Given the description of an element on the screen output the (x, y) to click on. 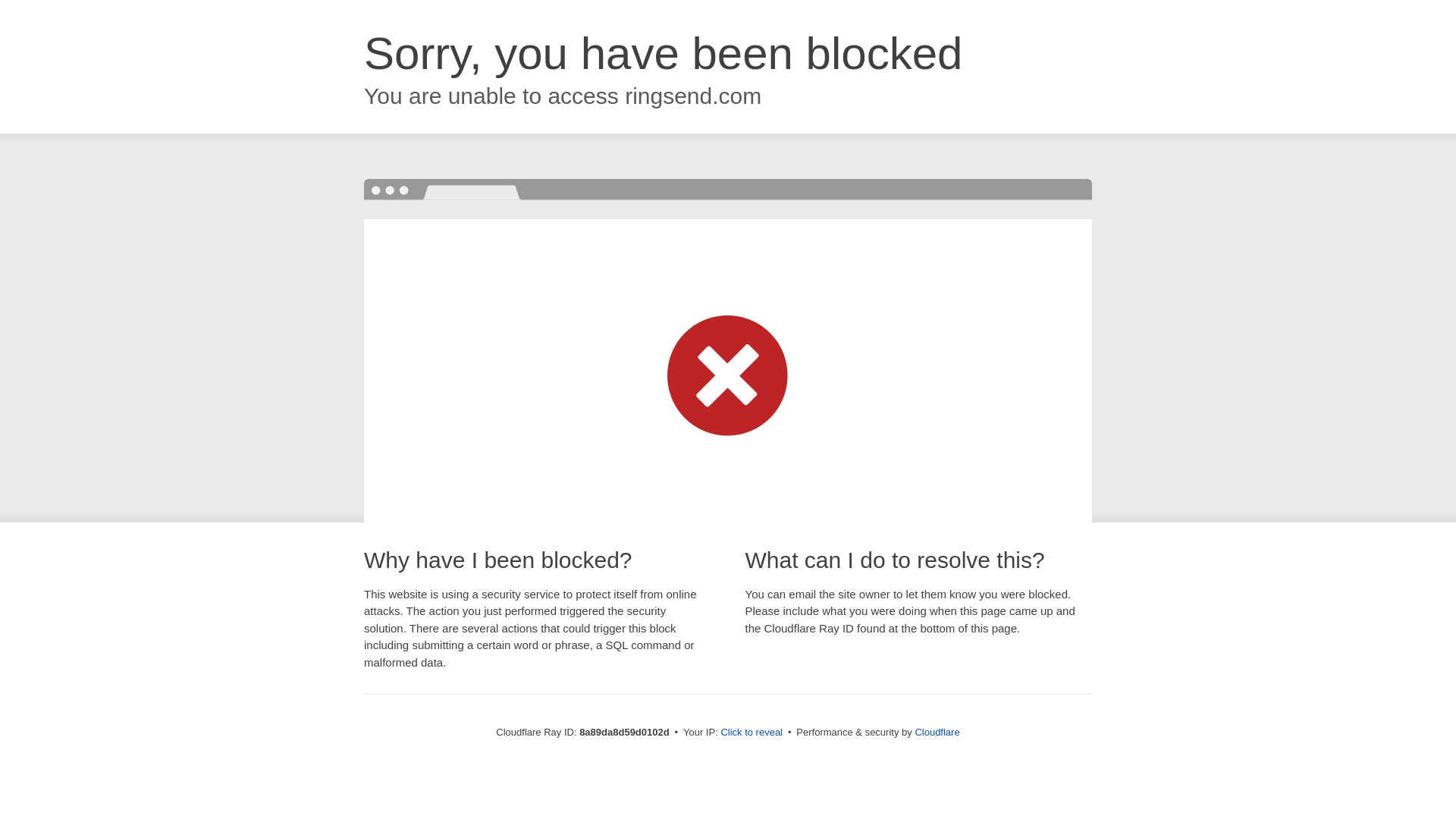
Click to reveal (751, 732)
Cloudflare (936, 731)
